Given the description of an element on the screen output the (x, y) to click on. 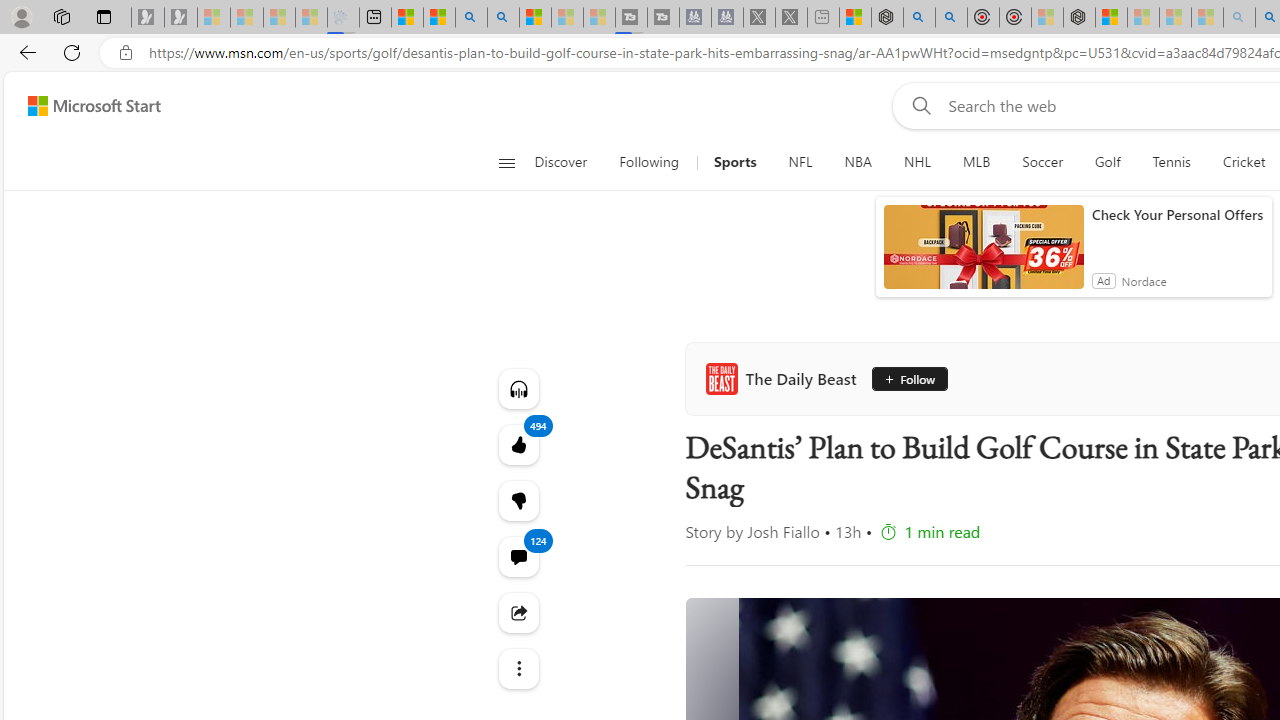
Listen to this article (517, 388)
